Given the description of an element on the screen output the (x, y) to click on. 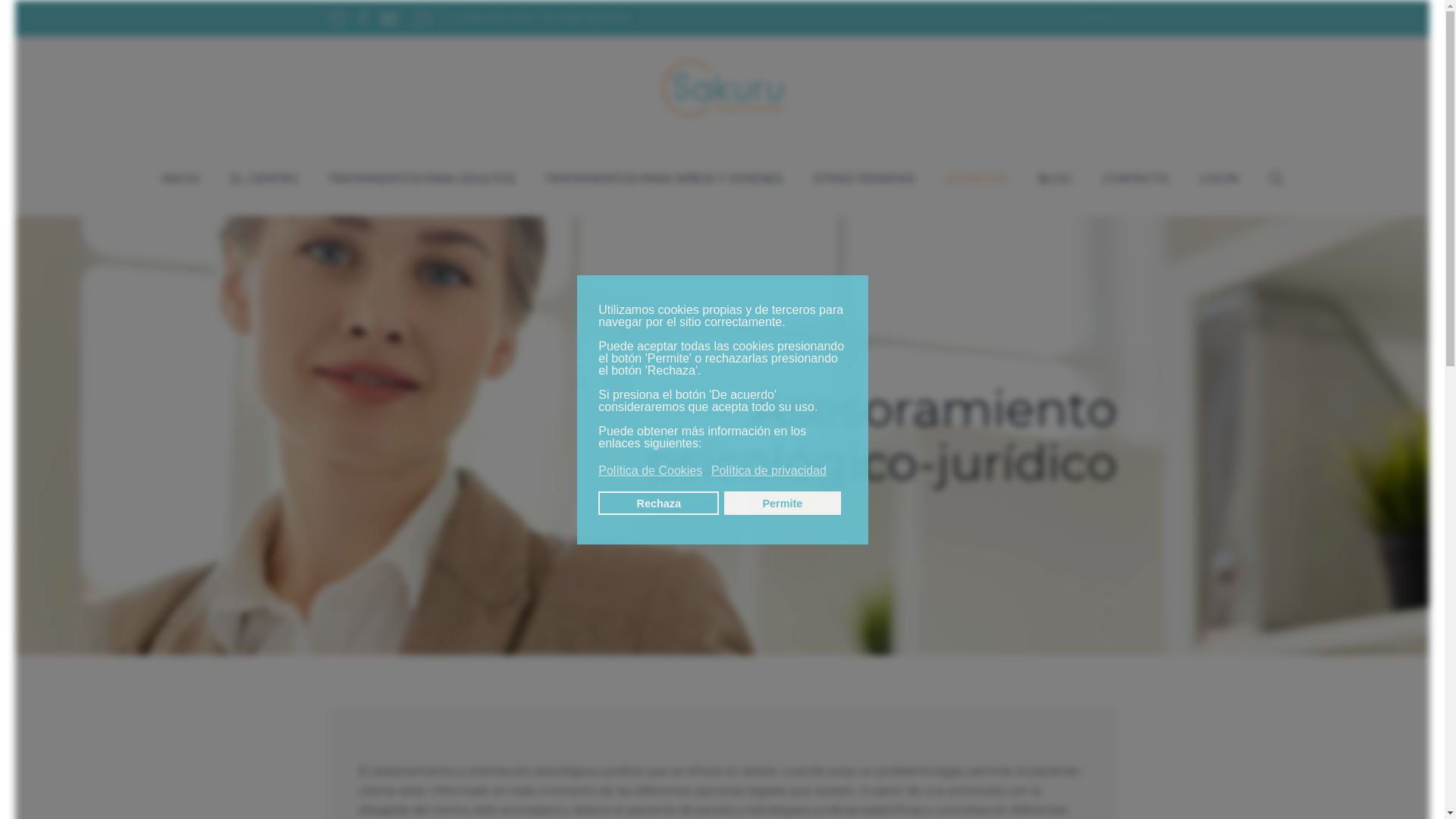
CONTACTO Element type: text (1135, 178)
LOGIN Element type: text (1218, 178)
EL CENTRO Element type: text (264, 178)
BLOG Element type: text (1054, 178)
TRATAMIENTOS PARA ADULTOS Element type: text (420, 178)
OTRAS TERAPIAS Element type: text (863, 178)
SERVICIOS Element type: text (975, 178)
Rechaza Element type: text (658, 503)
INICIO Element type: text (179, 178)
Permite Element type: text (782, 503)
